Given the description of an element on the screen output the (x, y) to click on. 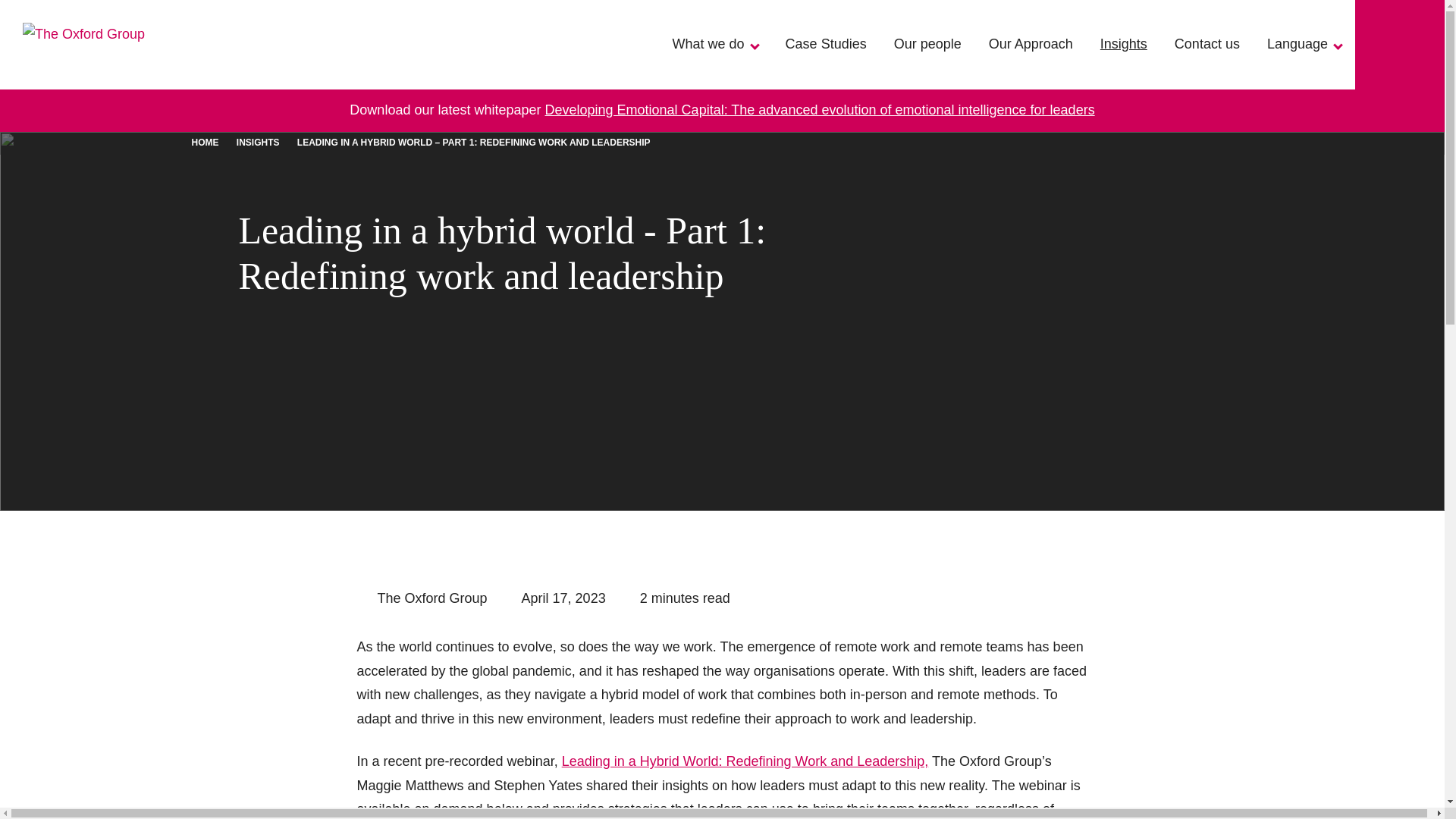
Language (1304, 44)
Our Approach (1030, 44)
Contact us (1206, 44)
Leading in a Hybrid World: Redefining Work and Leadership, (745, 761)
What we do (715, 44)
Case Studies (825, 44)
Our people (927, 44)
INSIGHTS (257, 142)
